Given the description of an element on the screen output the (x, y) to click on. 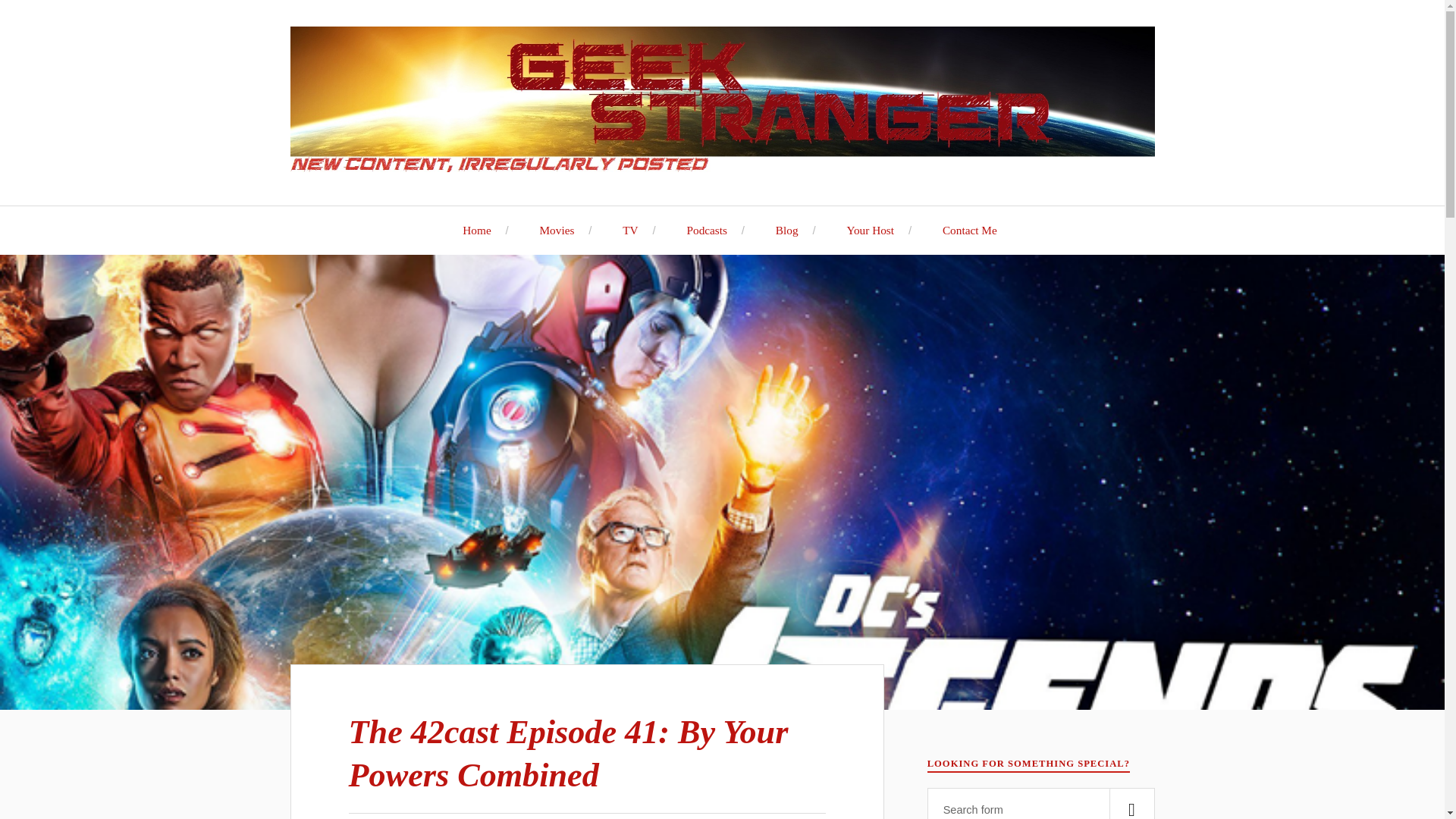
With the Most (862, 229)
Your Host (862, 229)
Contact Me (962, 229)
Movies (549, 229)
Kick back, stay awhile (468, 229)
Podcasts (698, 229)
Sort of like what I write, but less thought out. (698, 229)
Home (468, 229)
The 42cast Episode 41: By Your Powers Combined (569, 753)
